Given the description of an element on the screen output the (x, y) to click on. 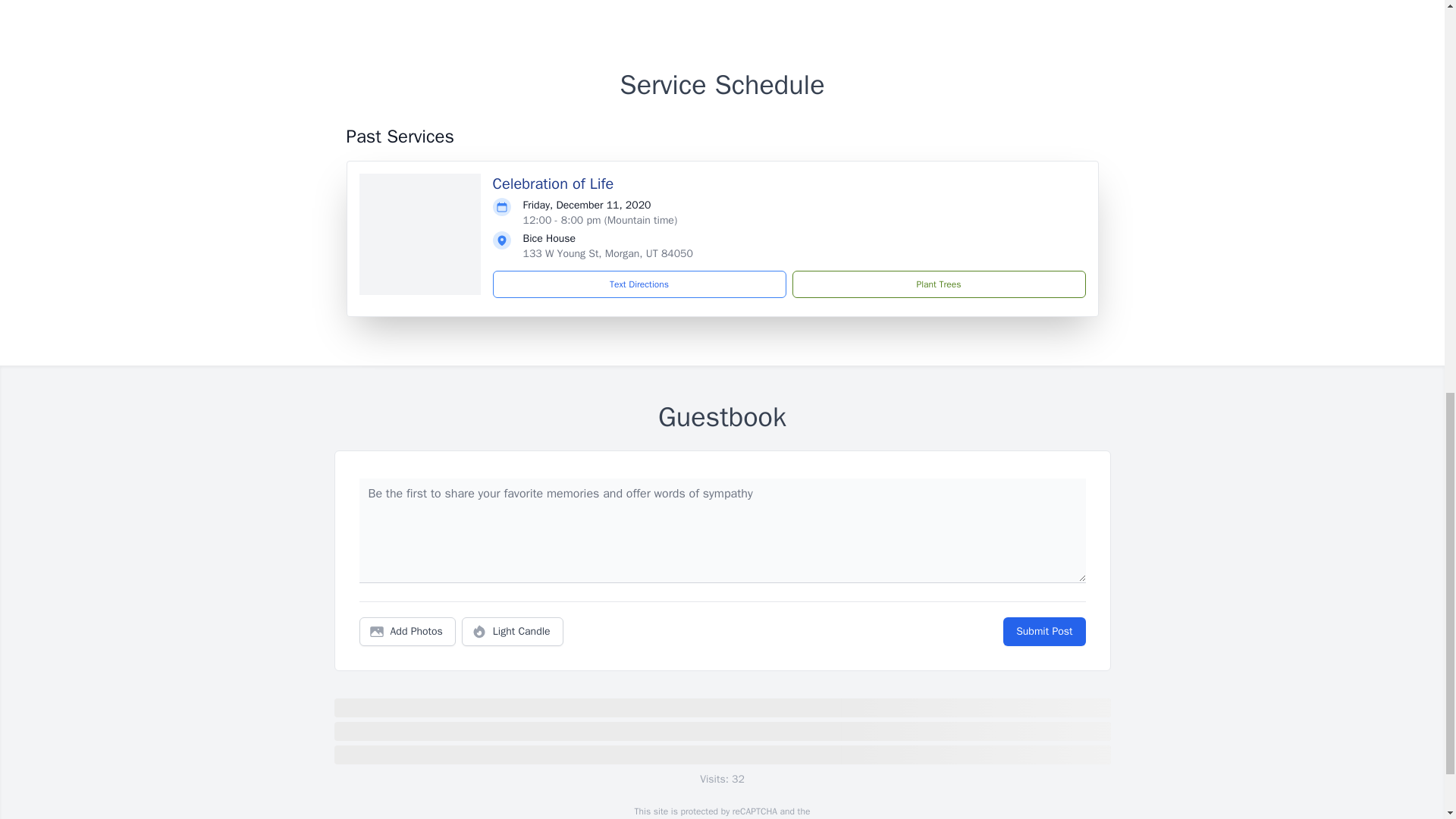
Add Photos (407, 631)
Privacy Policy (679, 818)
Text Directions (639, 284)
Plant Trees (938, 284)
Terms of Service (759, 818)
133 W Young St, Morgan, UT 84050 (607, 253)
Light Candle (512, 631)
Submit Post (1043, 631)
